Given the description of an element on the screen output the (x, y) to click on. 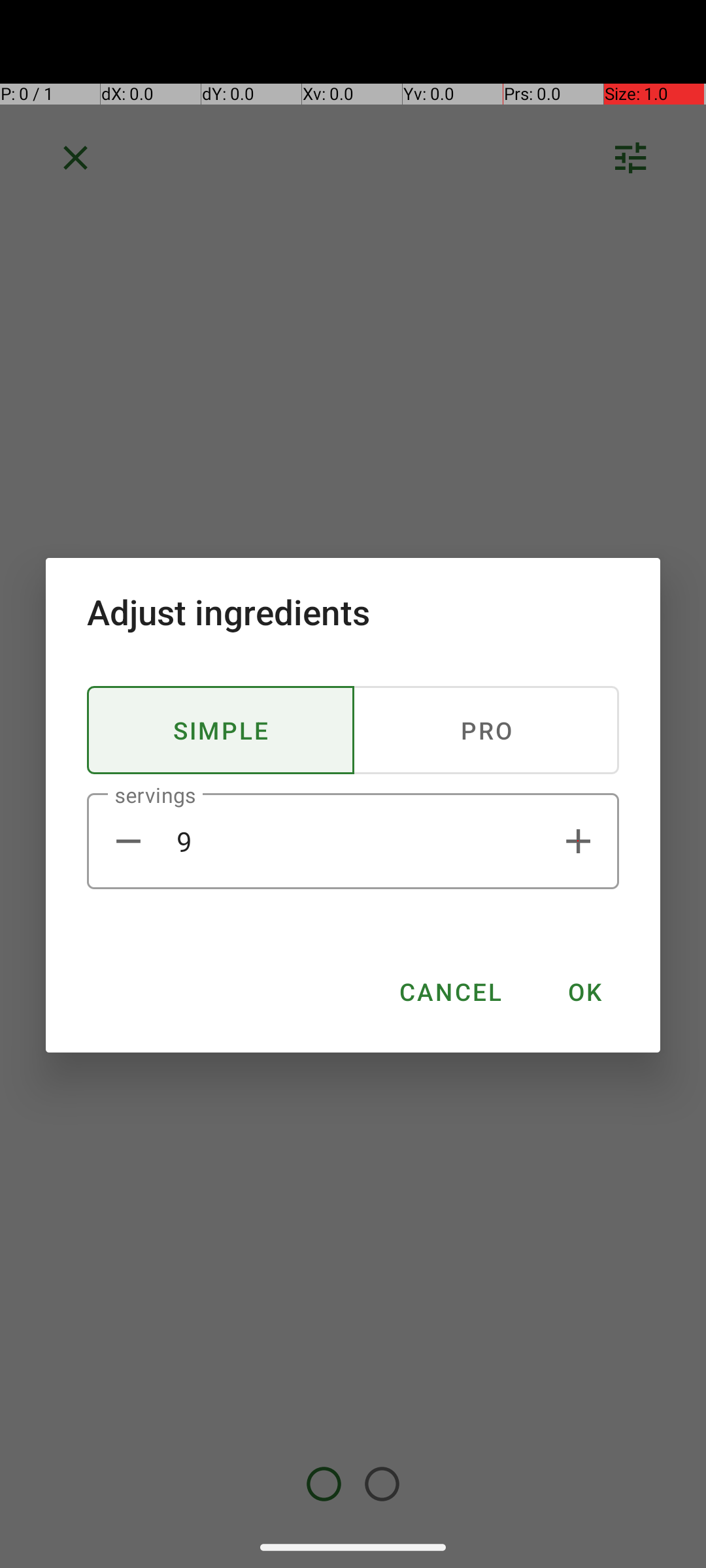
Adjust ingredients Element type: android.widget.TextView (352, 611)
SIMPLE Element type: android.widget.CompoundButton (220, 730)
PRO Element type: android.widget.CompoundButton (485, 730)
